Given the description of an element on the screen output the (x, y) to click on. 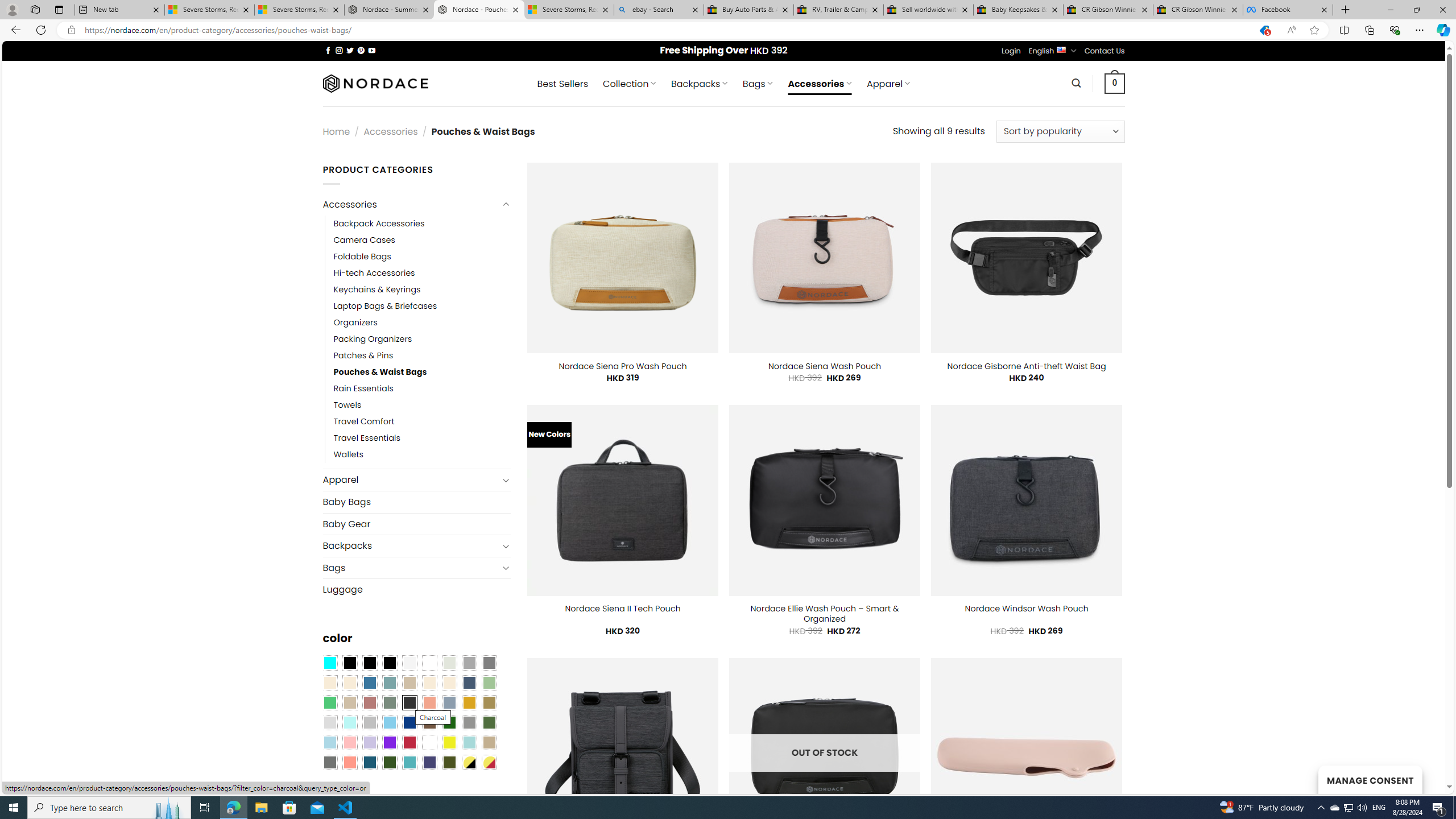
Baby Bags (416, 501)
Cream (449, 681)
Rain Essentials (422, 388)
Keychains & Keyrings (422, 289)
Green (488, 721)
Towels (347, 405)
